Given the description of an element on the screen output the (x, y) to click on. 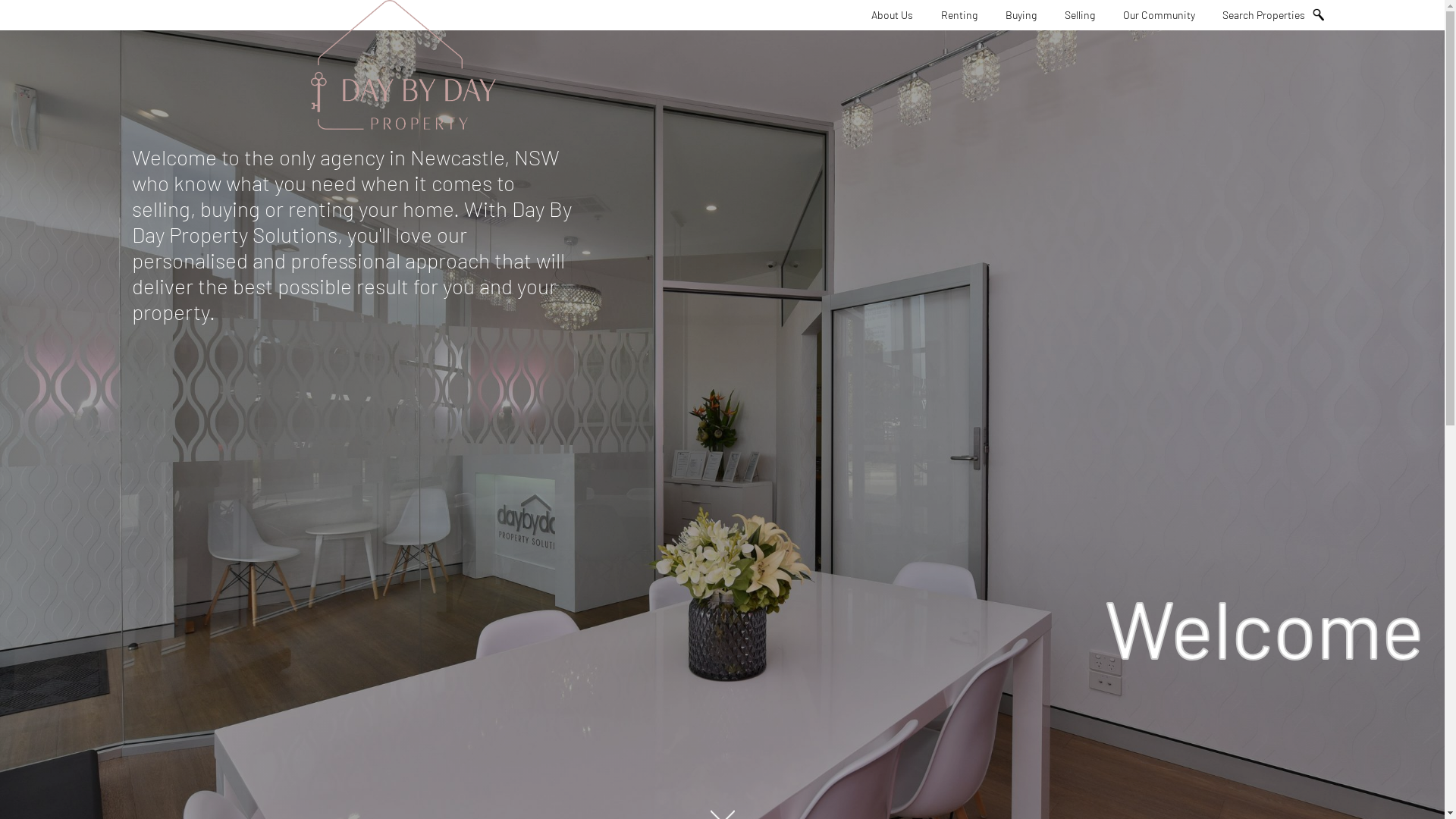
Our Community Element type: text (1158, 15)
Renting Element type: text (959, 15)
Selling Element type: text (1079, 15)
About Us Element type: text (891, 15)
Buying Element type: text (1020, 15)
Search Properties Element type: text (1267, 15)
Day By Day Property Solutions Element type: hover (403, 66)
